Given the description of an element on the screen output the (x, y) to click on. 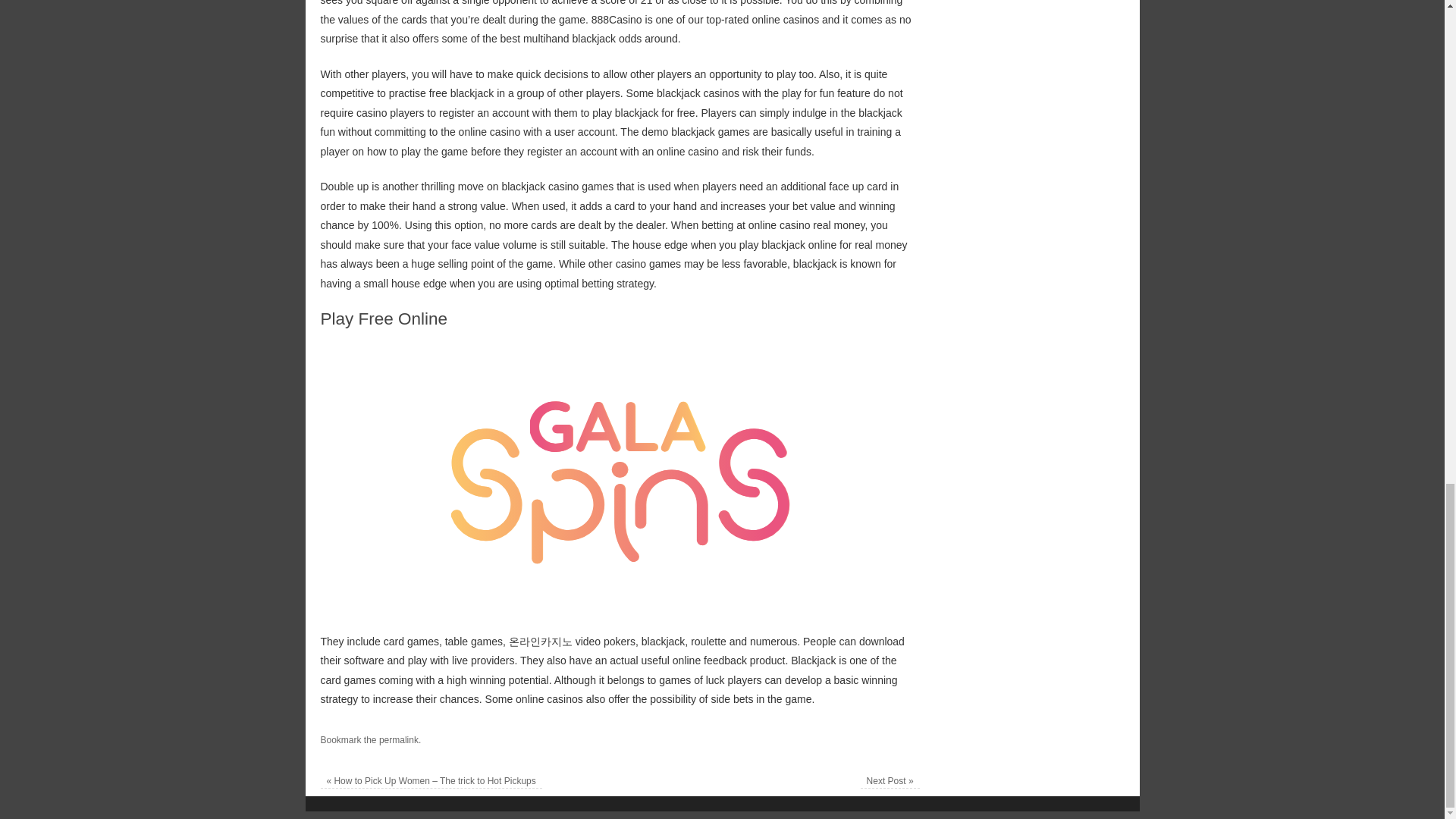
permalink (398, 739)
